Given the description of an element on the screen output the (x, y) to click on. 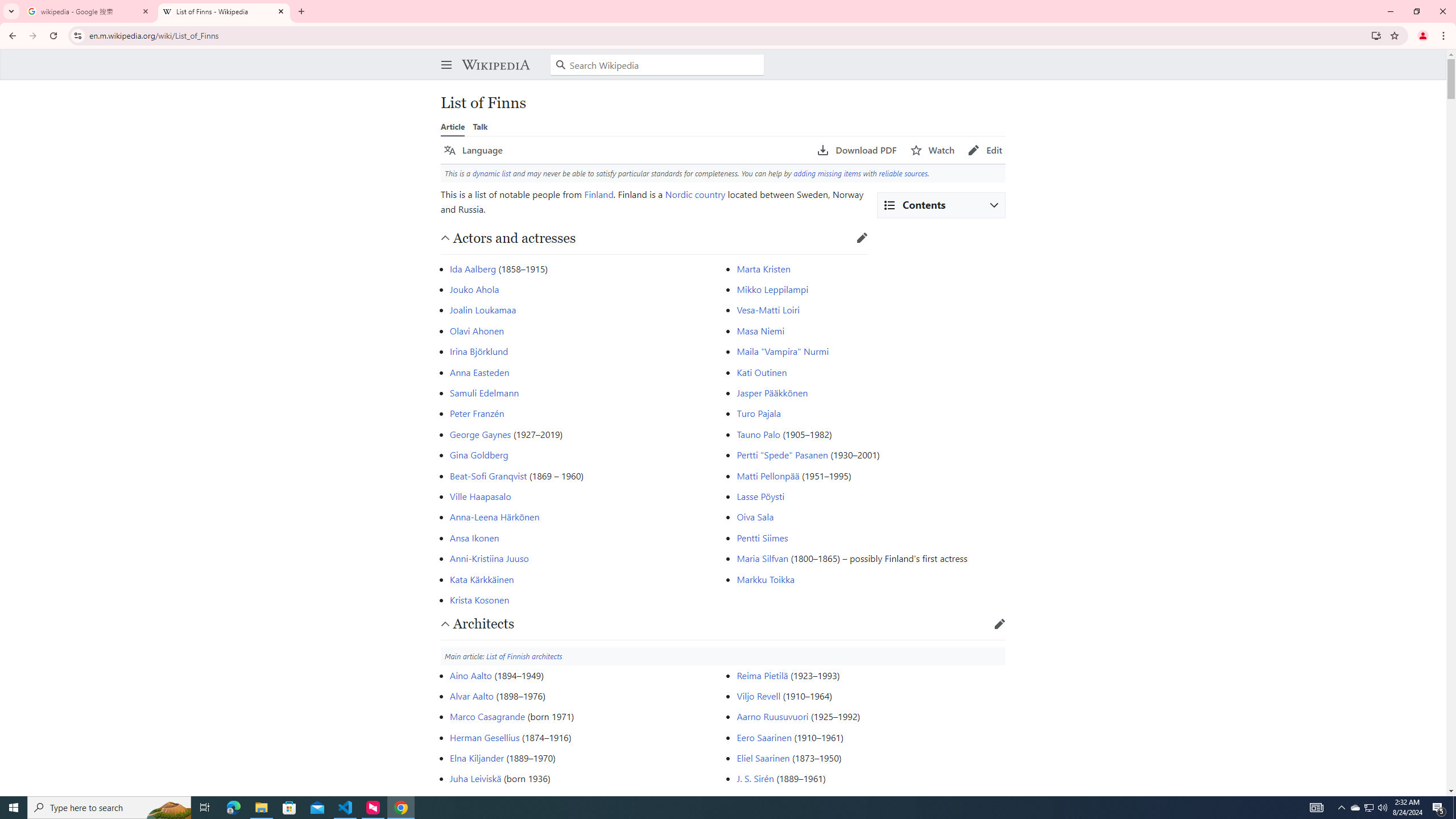
Tauno Palo (758, 433)
AutomationID: minerva-download (857, 150)
Joalin Loukamaa (482, 309)
Marta Kristen (763, 268)
George Gaynes (480, 433)
Viljo Revell (758, 695)
Maila "Vampira" Nurmi (782, 351)
Pentti Siimes (761, 537)
Eliel Saarinen (763, 757)
AutomationID: page-actions-edit (984, 150)
